Given the description of an element on the screen output the (x, y) to click on. 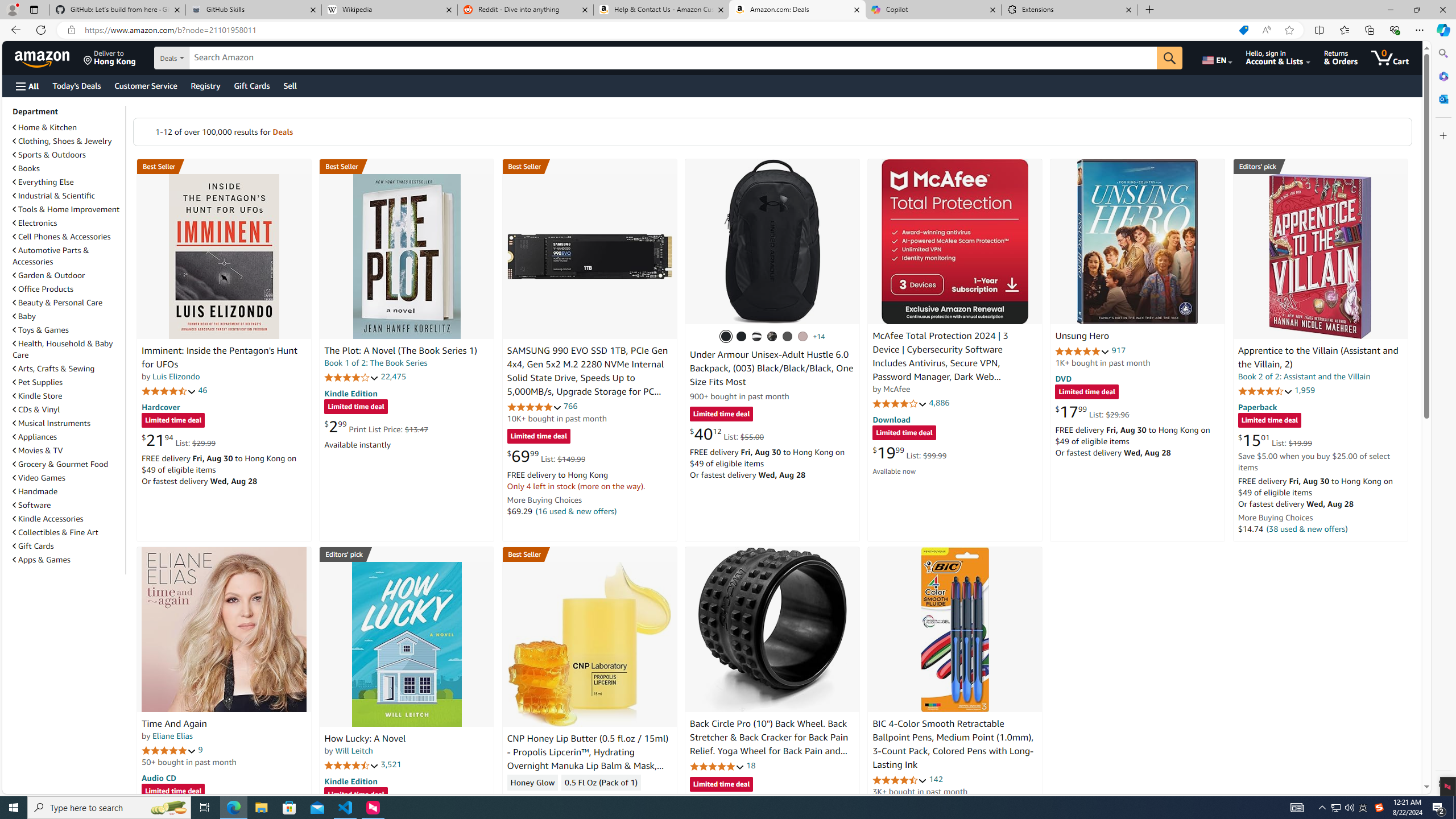
Cell Phones & Accessories (67, 236)
Time And Again (224, 628)
Paperback (1256, 406)
Reddit - Dive into anything (525, 9)
$17.99 List: $29.96 (1092, 411)
4.6 out of 5 stars (899, 779)
(004) Black / Black / Metallic Gold (772, 336)
766 (570, 406)
Extensions (1068, 9)
$40.12 List: $55.00 (726, 433)
Apprentice to the Villain (Assistant and the Villain, 2) (1318, 358)
